Given the description of an element on the screen output the (x, y) to click on. 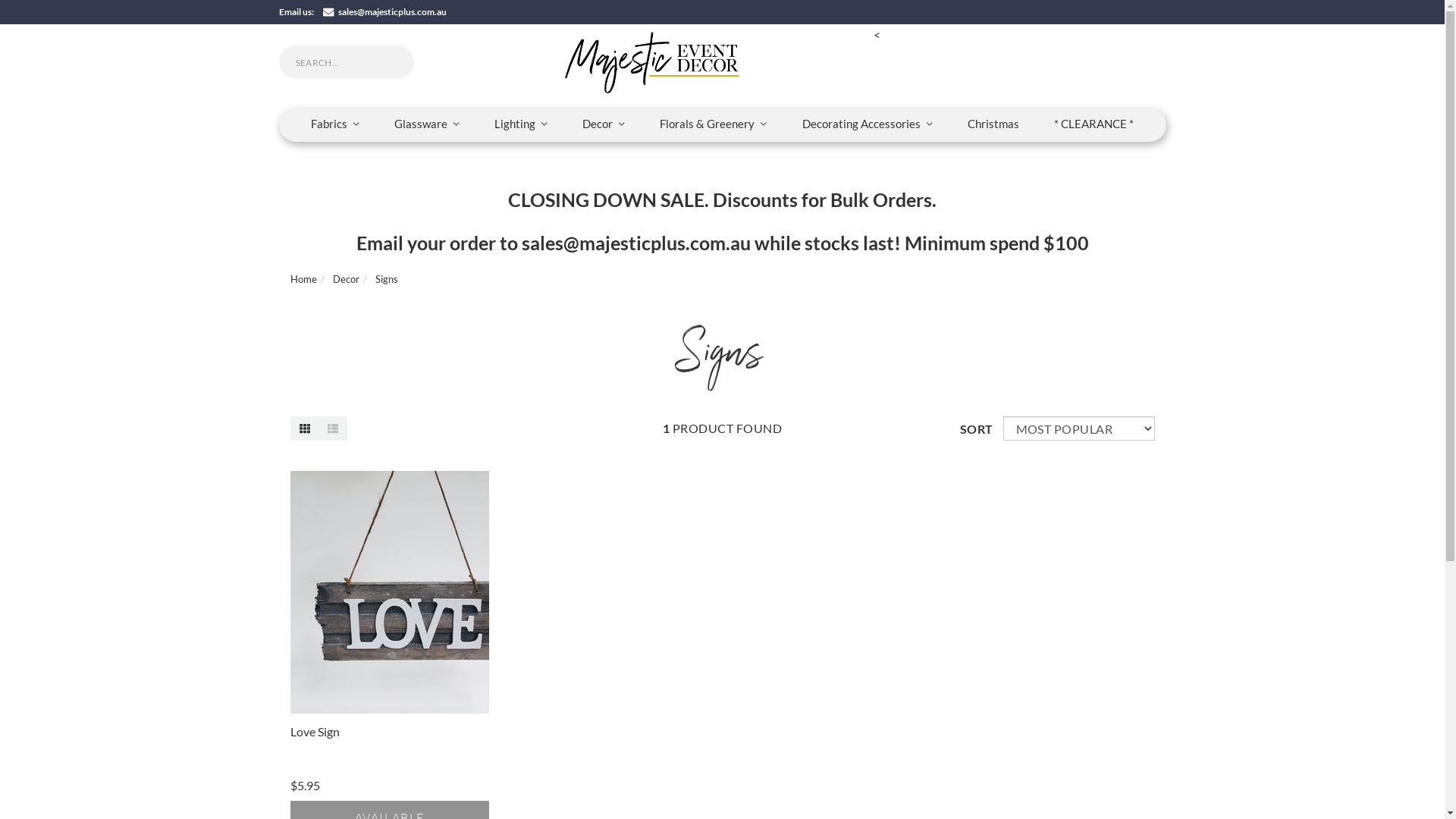
Decorating Accessories Element type: text (867, 124)
Love Sign Element type: text (313, 731)
* CLEARANCE * Element type: text (1093, 124)
Christmas Element type: text (993, 124)
Lighting Element type: text (520, 124)
Home Element type: text (302, 279)
sales@majesticplus.com.au Element type: text (384, 12)
Decor Element type: text (603, 124)
Glassware Element type: text (426, 124)
Email us: Element type: text (296, 12)
Decor Element type: text (345, 279)
Signs Element type: text (385, 279)
Fabrics Element type: text (334, 124)
Florals & Greenery Element type: text (712, 124)
Search Element type: text (15, 12)
